Given the description of an element on the screen output the (x, y) to click on. 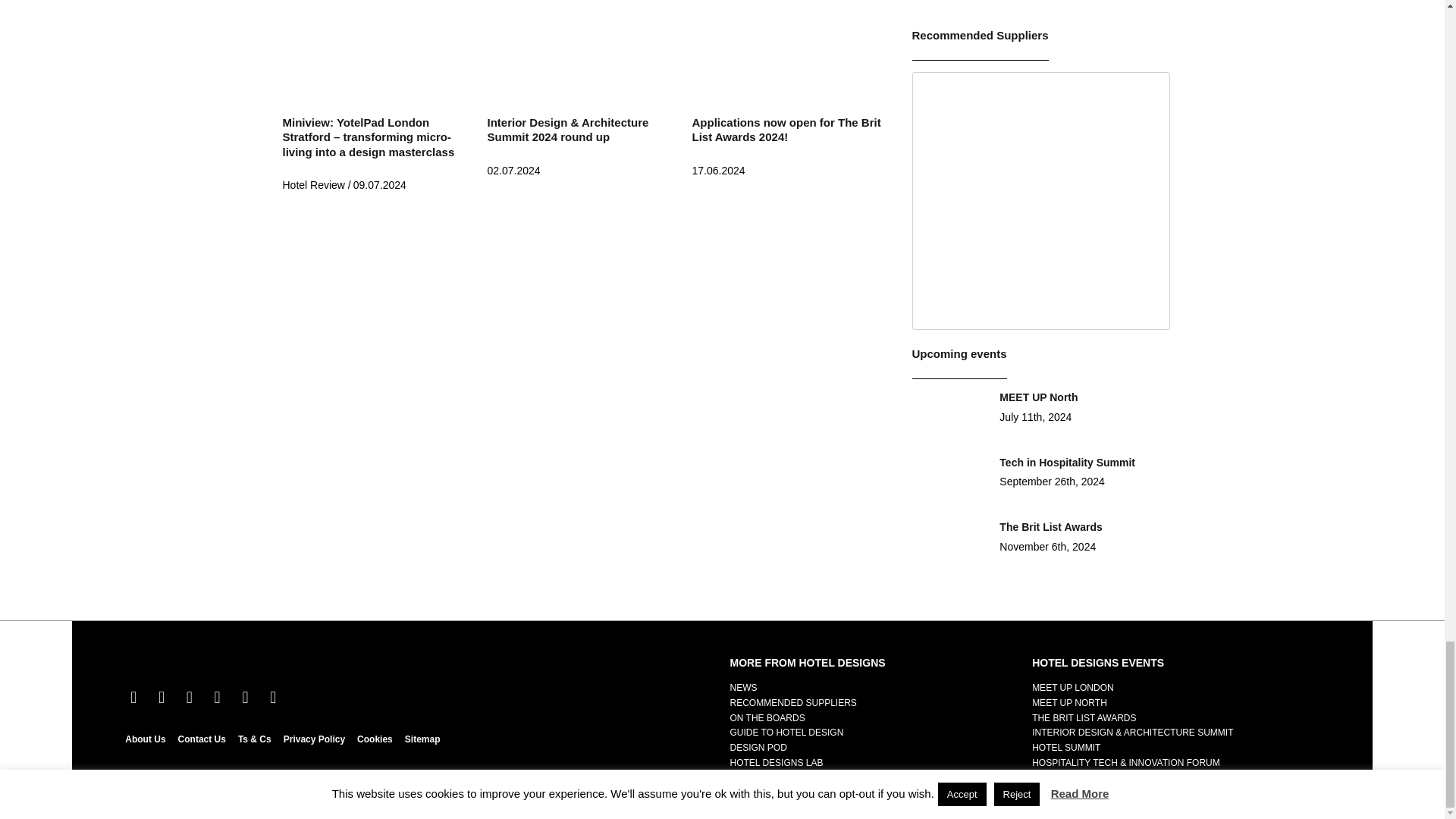
The Brit List Awards 2024 applications now open (785, 49)
IDAS 2024 (581, 49)
